Given the description of an element on the screen output the (x, y) to click on. 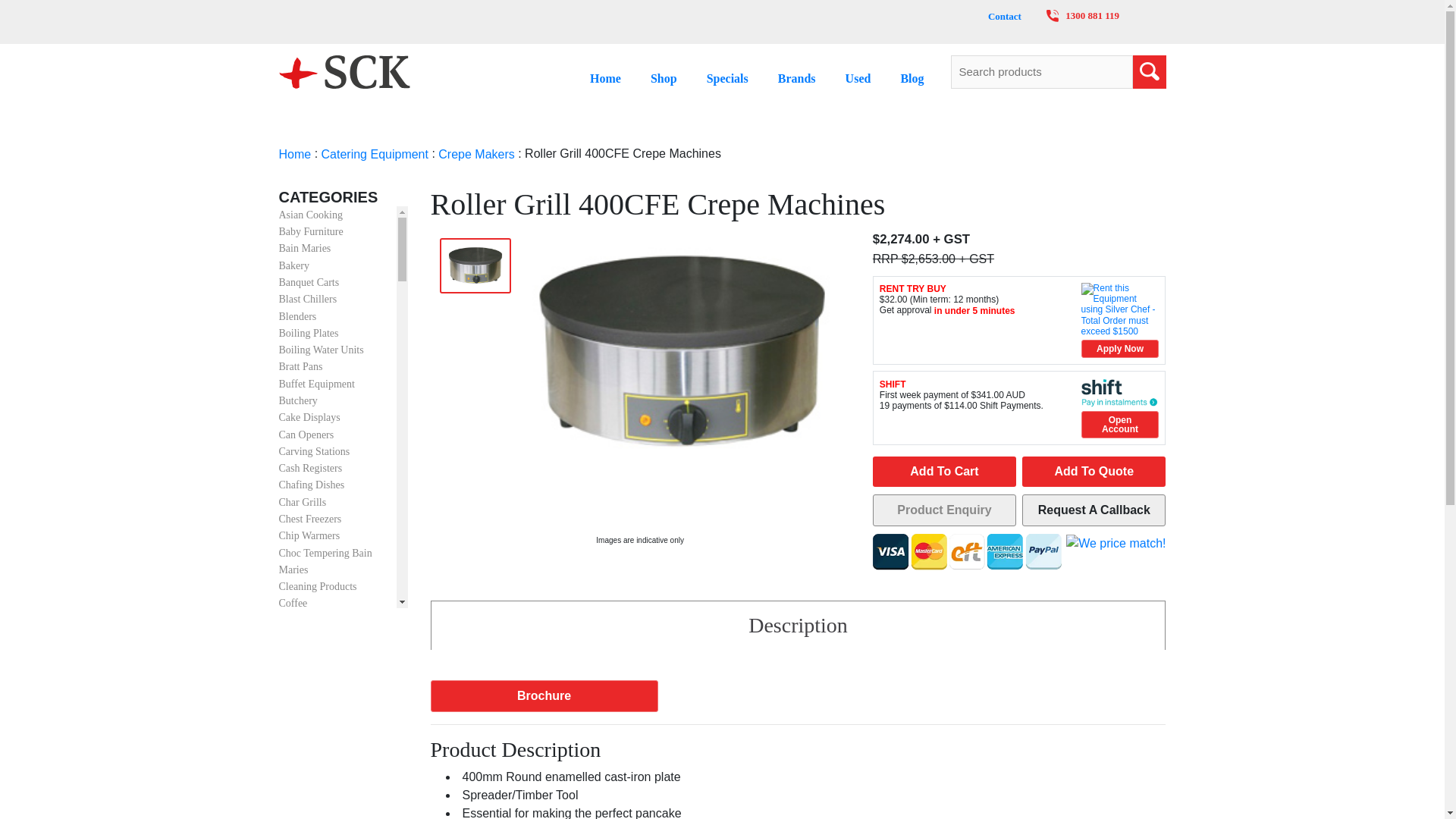
Butchery (298, 400)
Boiling Plates (309, 333)
Brands (796, 77)
Asian Cooking (310, 214)
Bratt Pans (301, 367)
Char Grills (302, 501)
Boiling Water Units (321, 349)
Carving Stations (314, 451)
Bain Maries (305, 248)
Bakery (293, 265)
